Given the description of an element on the screen output the (x, y) to click on. 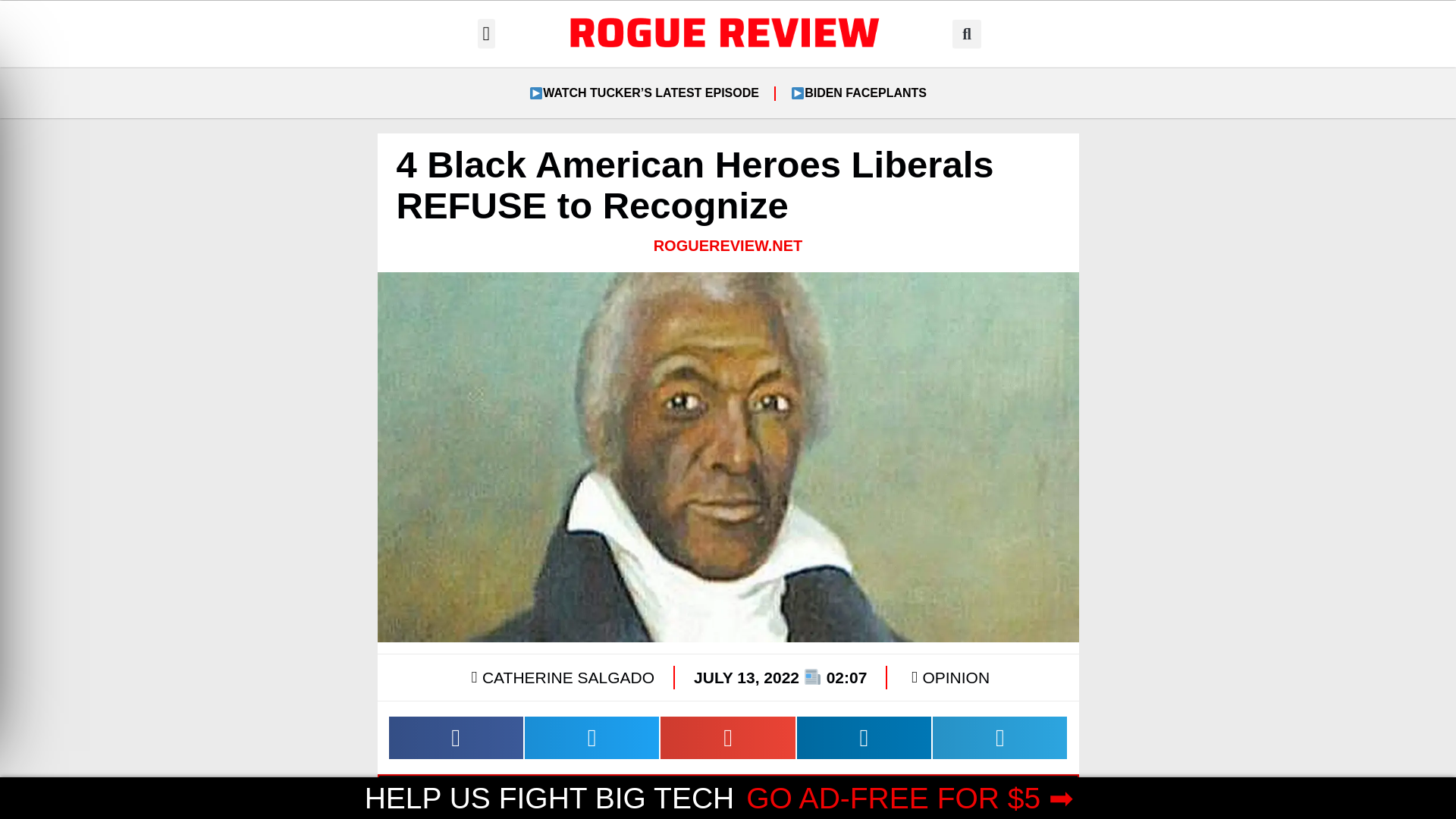
CATHERINE SALGADO (559, 677)
OPINION (955, 677)
BIDEN FACEPLANTS (859, 93)
